Given the description of an element on the screen output the (x, y) to click on. 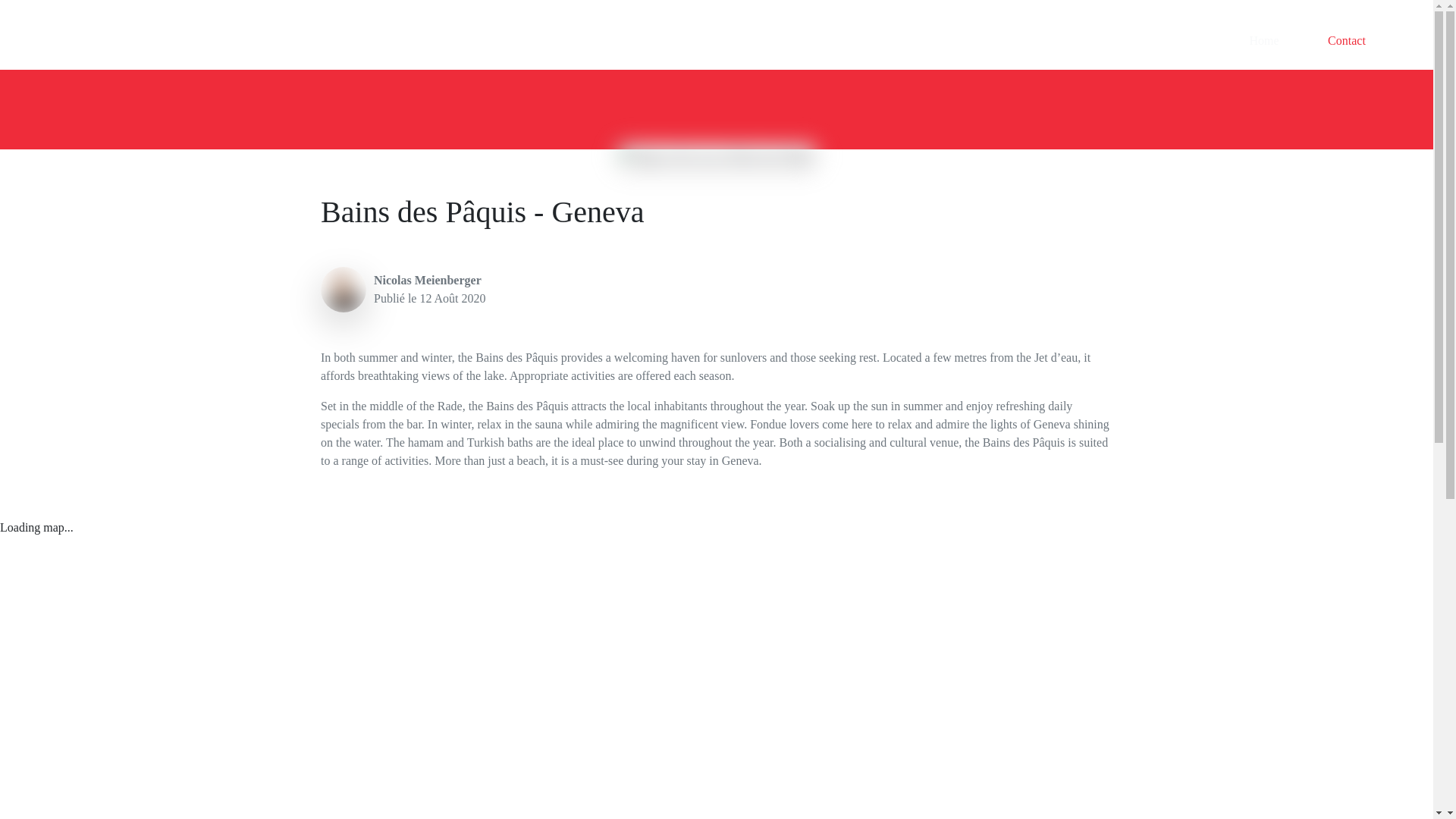
Logo deevent.app (66, 40)
Logo deevent.app (71, 40)
Home (1263, 40)
Contact (1346, 40)
